Given the description of an element on the screen output the (x, y) to click on. 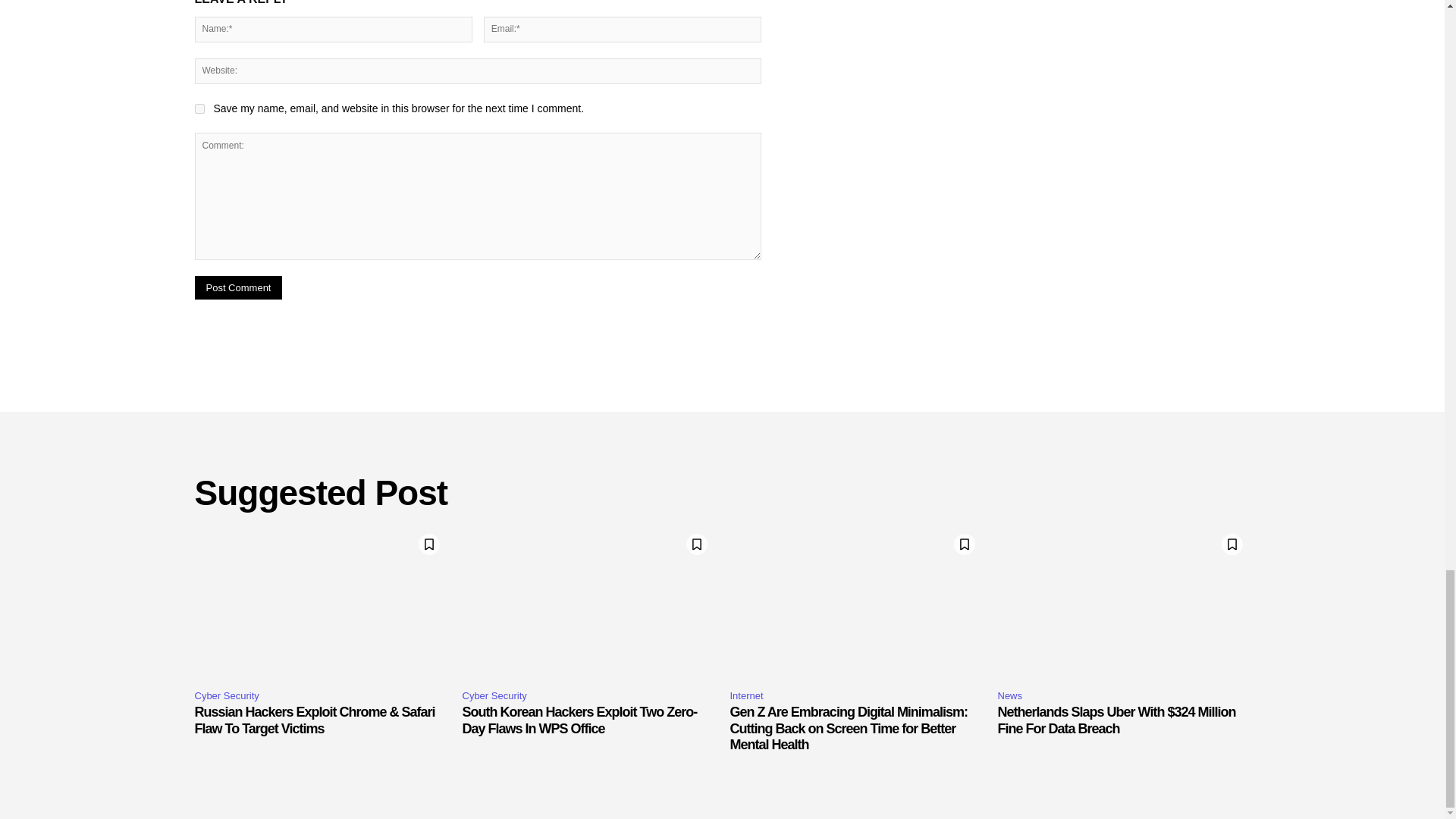
yes (198, 108)
Post Comment (237, 287)
Post Comment (237, 287)
